Given the description of an element on the screen output the (x, y) to click on. 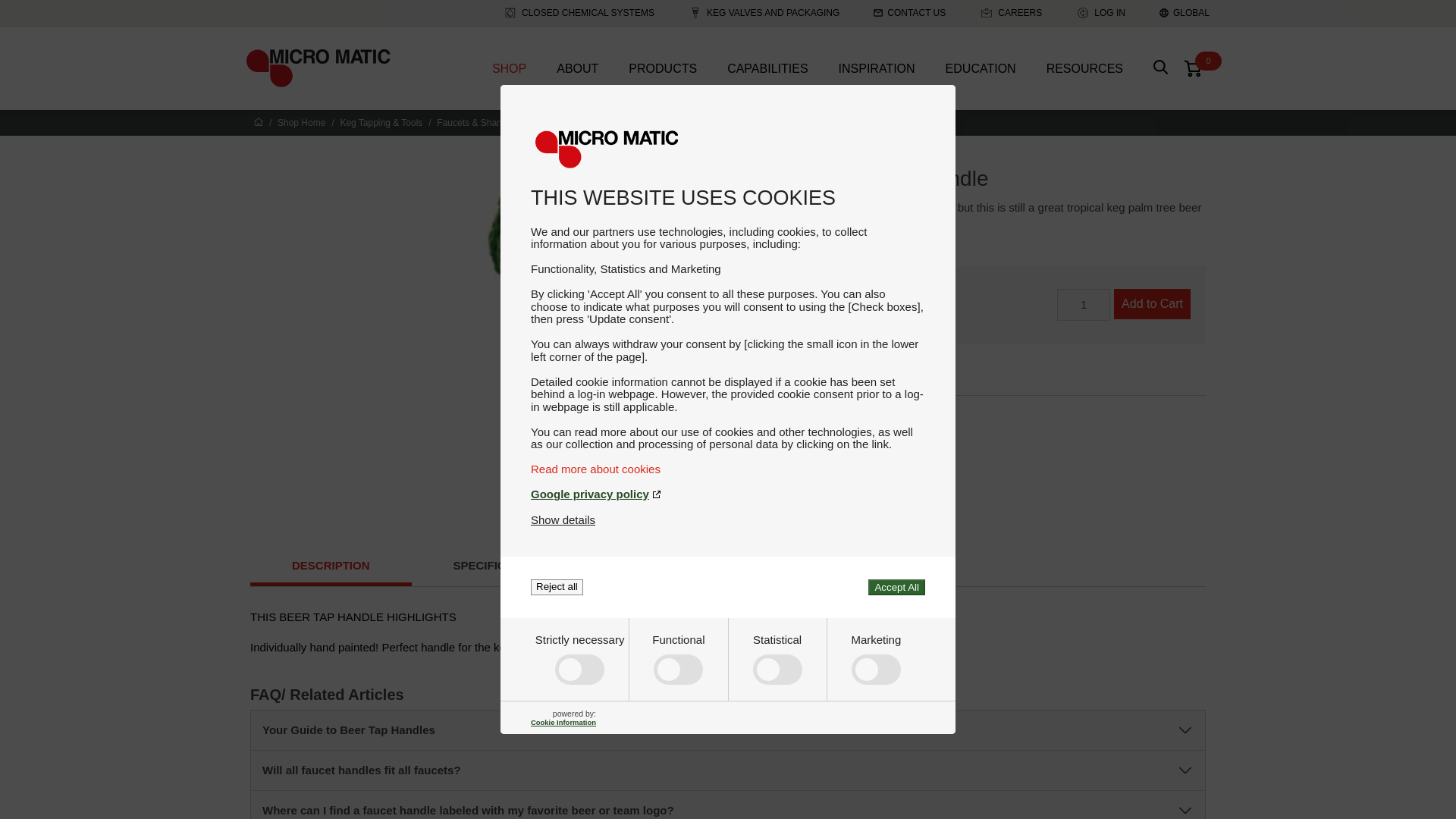
1 (1083, 305)
Read more about cookies (727, 468)
Google privacy policy (727, 493)
Search (1161, 66)
Show details (563, 519)
